Given the description of an element on the screen output the (x, y) to click on. 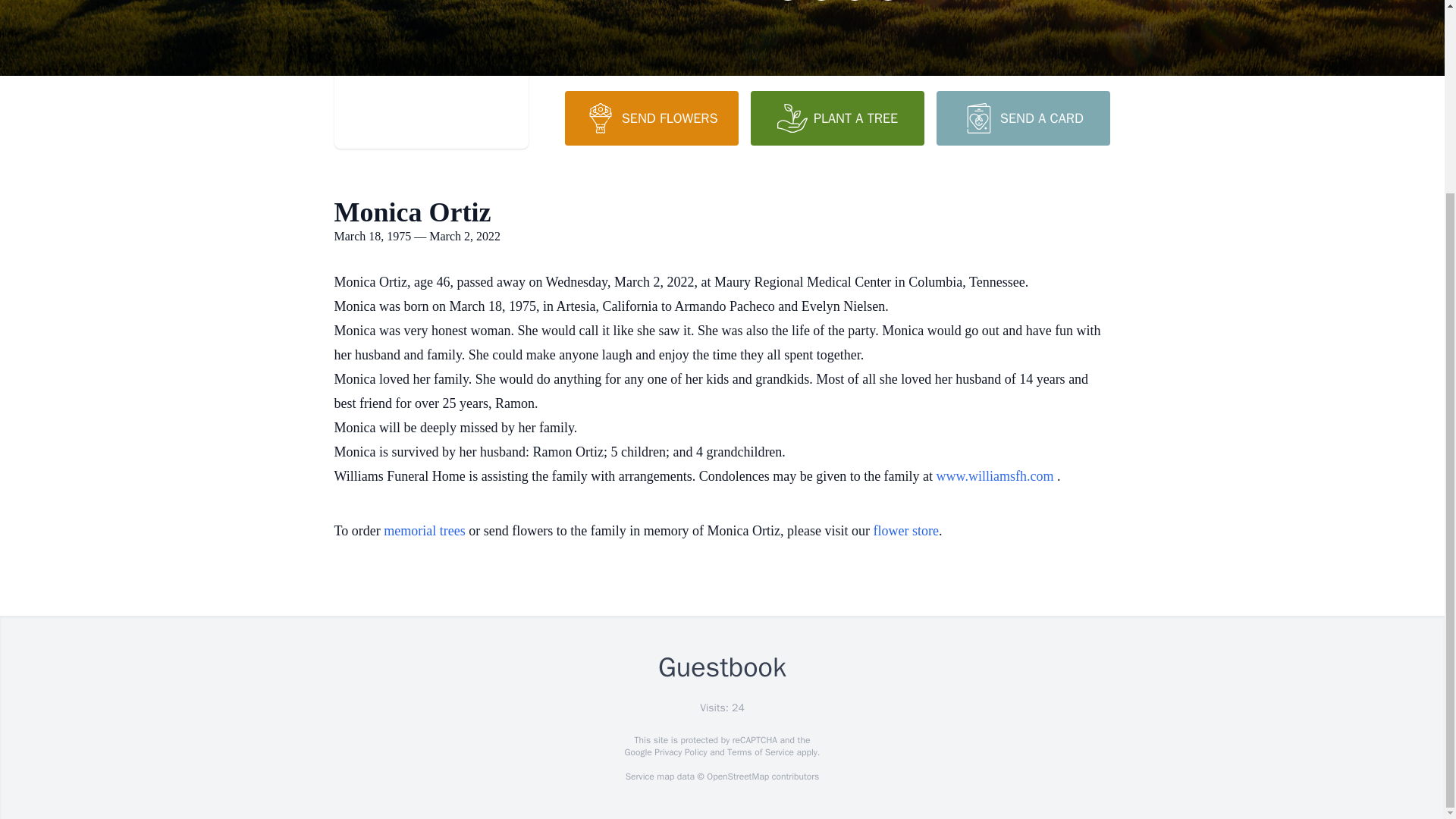
SEND A CARD (1022, 117)
www.williamsfh.com (996, 476)
Terms of Service (759, 752)
memorial trees (424, 530)
Privacy Policy (679, 752)
flower store (906, 530)
PLANT A TREE (837, 117)
SEND FLOWERS (651, 117)
Click to open in a new window or tab (996, 476)
OpenStreetMap (737, 776)
